Given the description of an element on the screen output the (x, y) to click on. 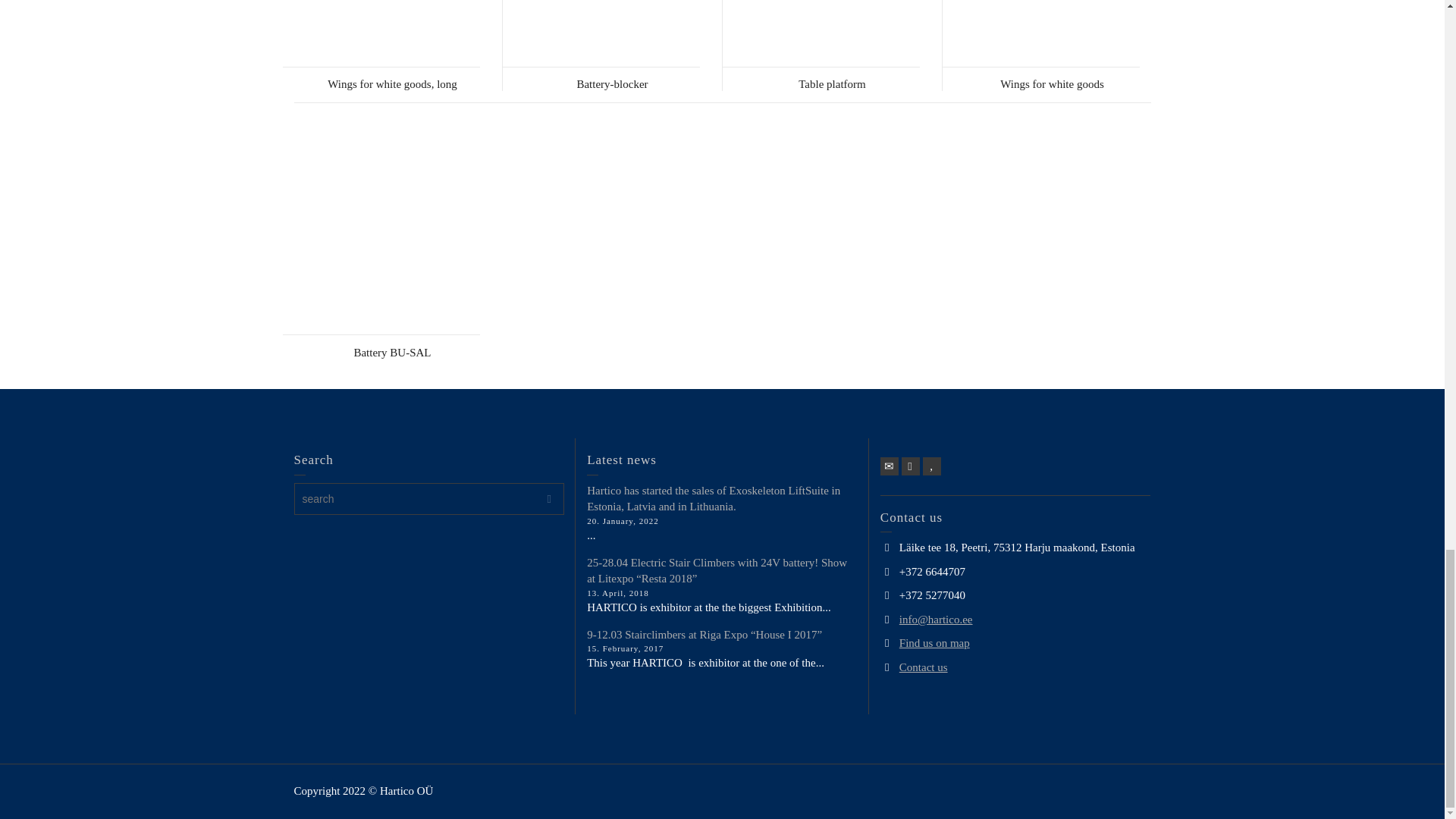
Email (889, 466)
Facebook (910, 466)
Find us on map (934, 643)
YouTube (931, 466)
